Given the description of an element on the screen output the (x, y) to click on. 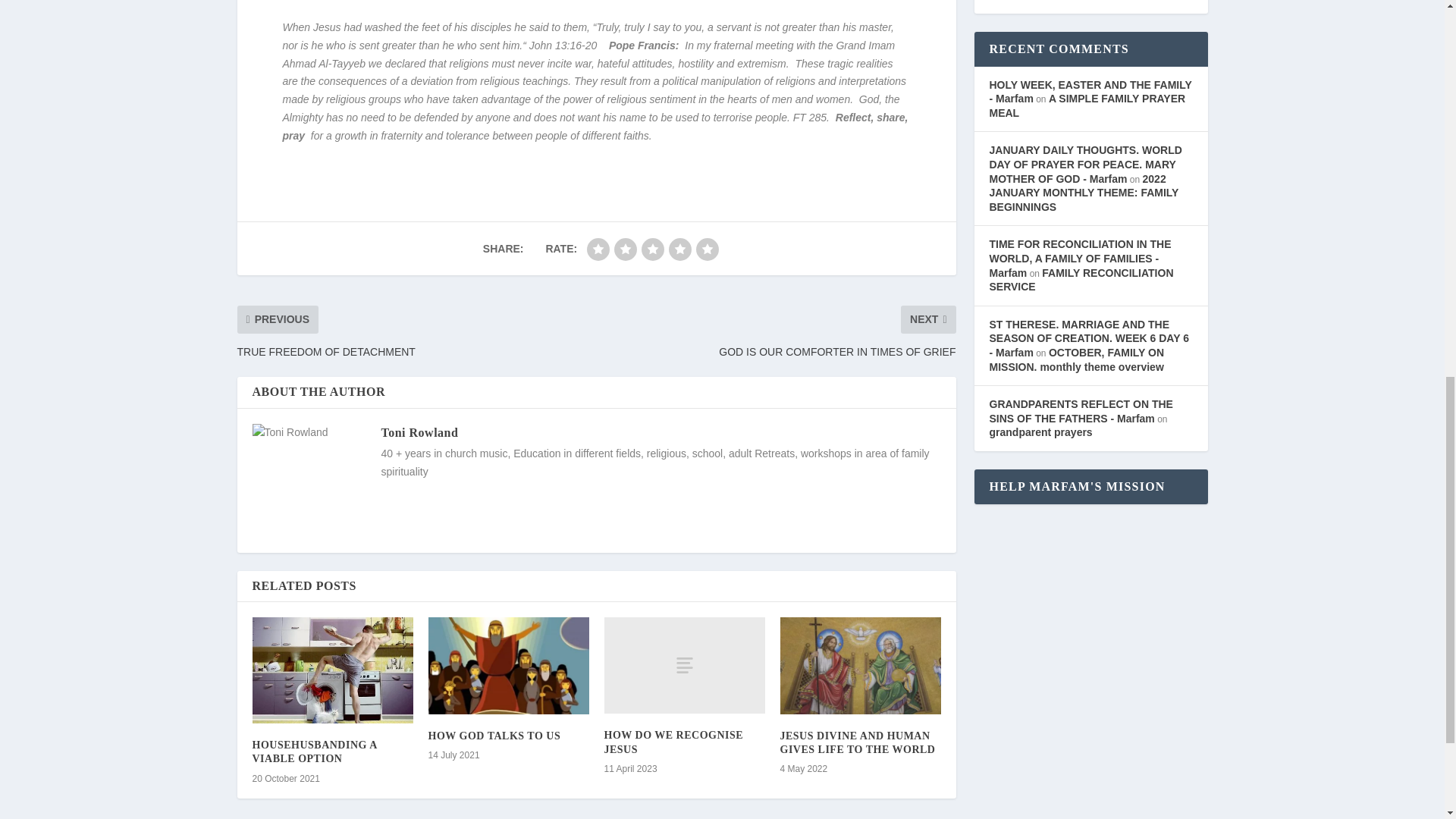
good (679, 249)
regular (652, 249)
gorgeous (707, 249)
Toni Rowland (419, 431)
HOUSEHUSBANDING A VIABLE OPTION (313, 751)
poor (625, 249)
bad (598, 249)
